Given the description of an element on the screen output the (x, y) to click on. 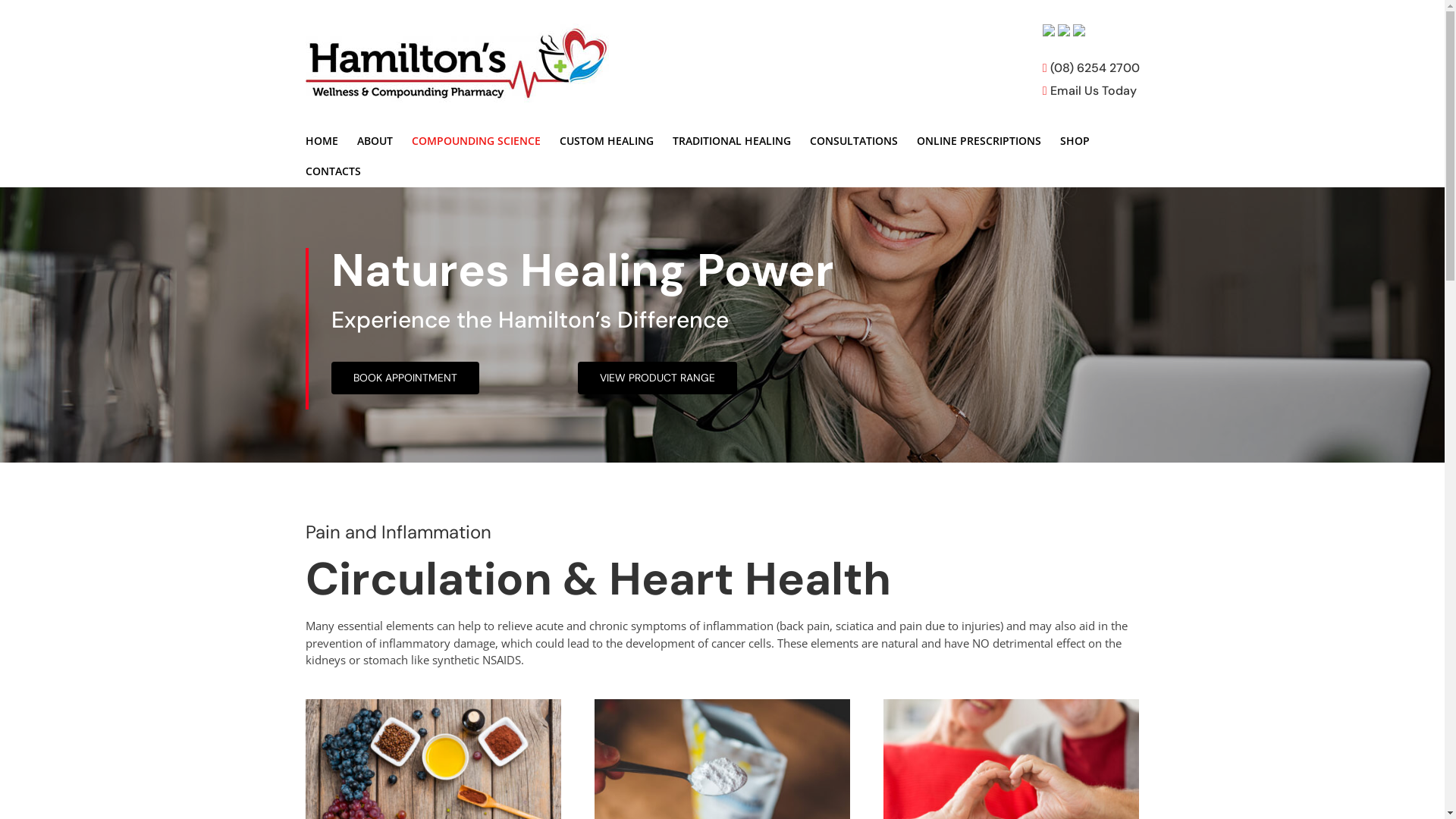
ABOUT Element type: text (374, 140)
TRADITIONAL HEALING Element type: text (730, 140)
CUSTOM HEALING Element type: text (606, 140)
VIEW PRODUCT RANGE Element type: text (657, 377)
CONSULTATIONS Element type: text (853, 140)
HOME Element type: text (320, 140)
(08) 6254 2700 Element type: text (1090, 67)
BOOK APPOINTMENT Element type: text (404, 377)
SHOP Element type: text (1074, 140)
ONLINE PRESCRIPTIONS Element type: text (978, 140)
CONTACTS Element type: text (332, 171)
Email Us Today Element type: text (1089, 89)
COMPOUNDING SCIENCE Element type: text (475, 140)
